Given the description of an element on the screen output the (x, y) to click on. 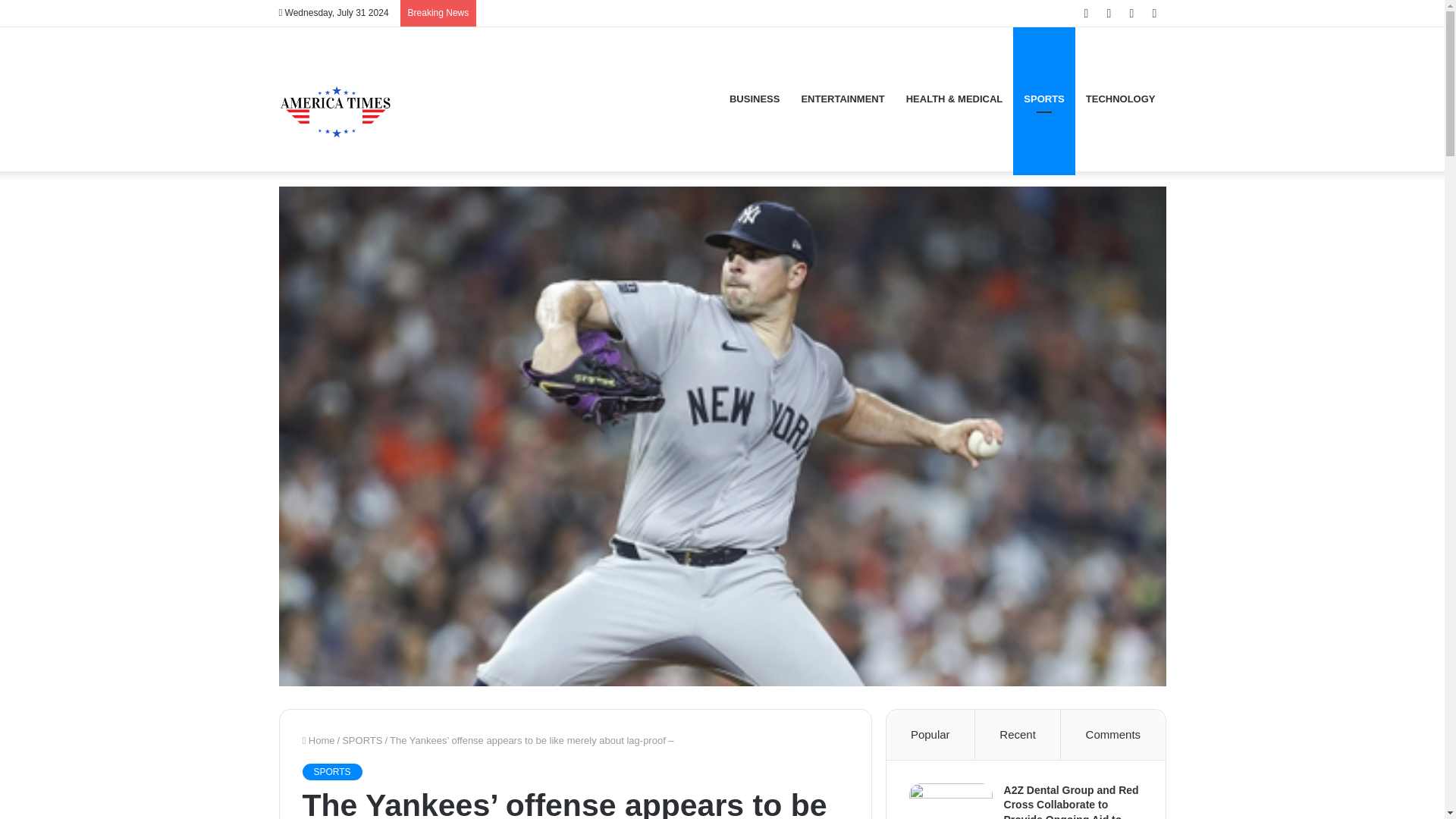
SPORTS (361, 740)
AMERICA TIMES (336, 99)
SPORTS (331, 771)
Home (317, 740)
